Given the description of an element on the screen output the (x, y) to click on. 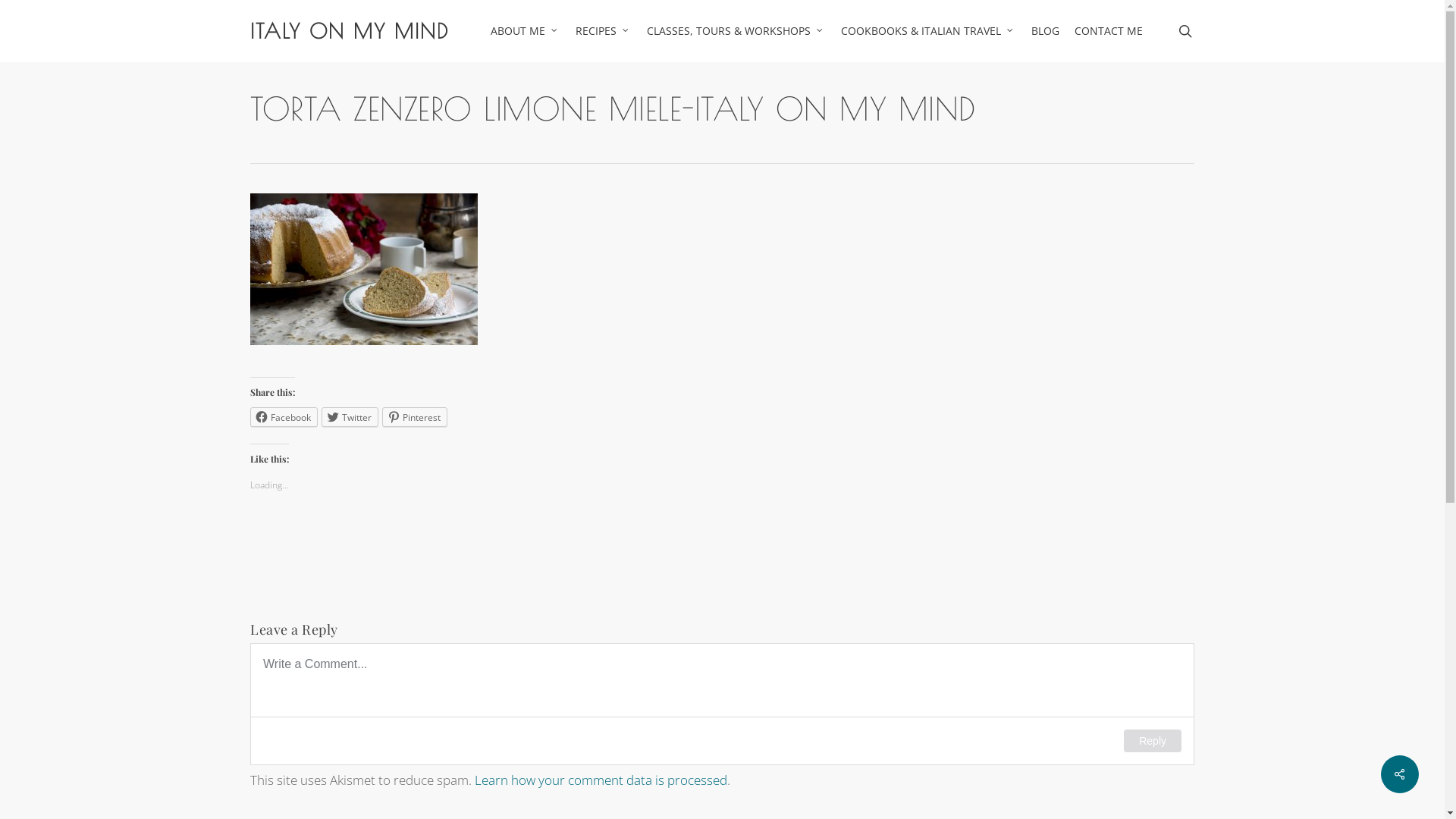
Learn how your comment data is processed Element type: text (600, 779)
RECIPES Element type: text (603, 30)
ABOUT ME Element type: text (525, 30)
BLOG Element type: text (1044, 30)
CLASSES, TOURS & WORKSHOPS Element type: text (736, 30)
COOKBOOKS & ITALIAN TRAVEL Element type: text (928, 30)
Twitter Element type: text (349, 416)
Pinterest Element type: text (414, 416)
Comment Form Element type: hover (722, 704)
Like or Reblog Element type: hover (590, 536)
ITALY ON MY MIND Element type: text (349, 30)
CONTACT ME Element type: text (1108, 30)
Facebook Element type: text (283, 416)
search Element type: text (1185, 30)
